Given the description of an element on the screen output the (x, y) to click on. 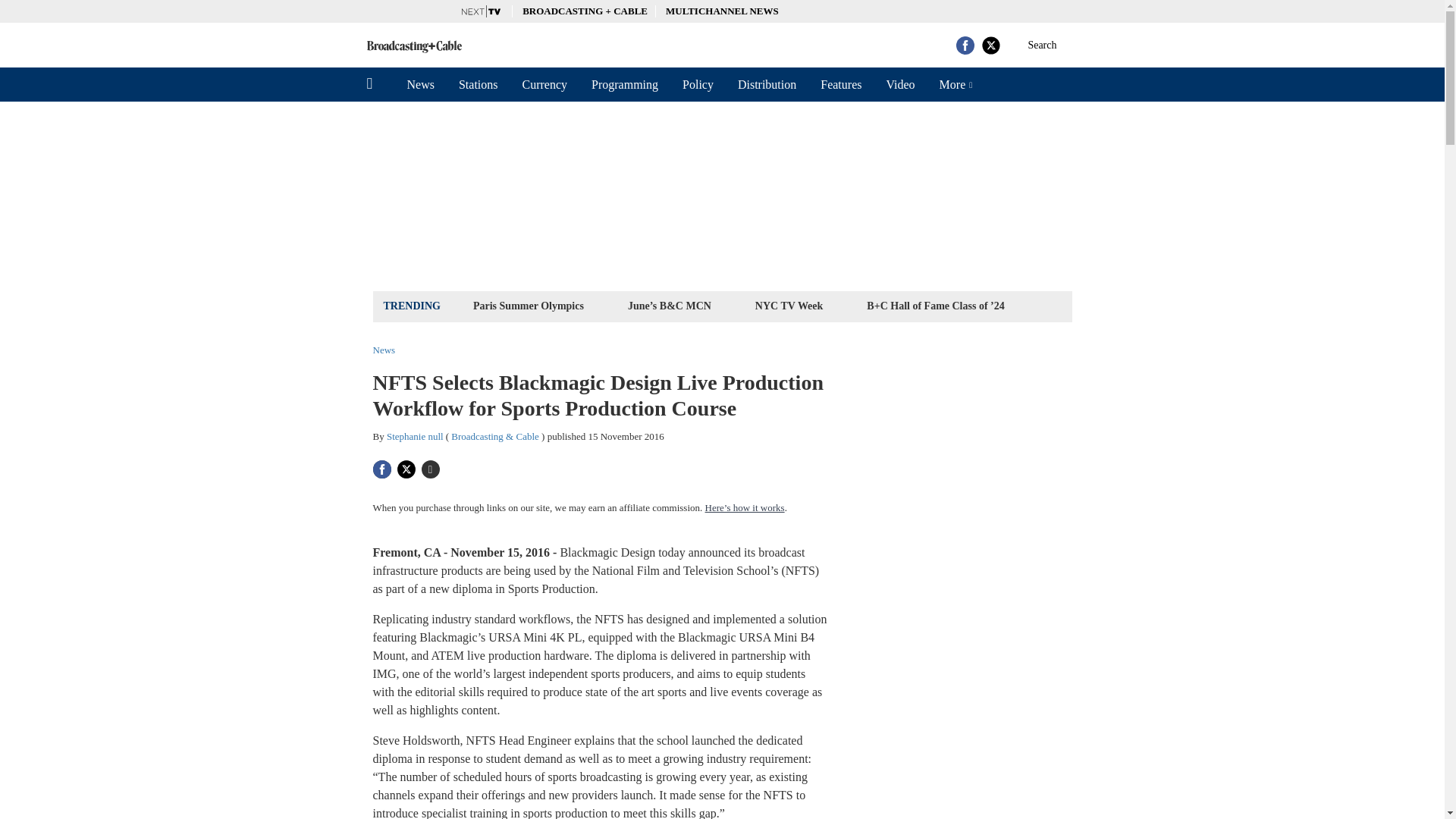
NYC TV Week (788, 305)
Stephanie null (415, 436)
Currency (544, 84)
Features (840, 84)
Programming (624, 84)
Policy (697, 84)
Distribution (766, 84)
Stations (478, 84)
Paris Summer Olympics (528, 305)
News (419, 84)
Video (899, 84)
MULTICHANNEL NEWS (721, 10)
